Given the description of an element on the screen output the (x, y) to click on. 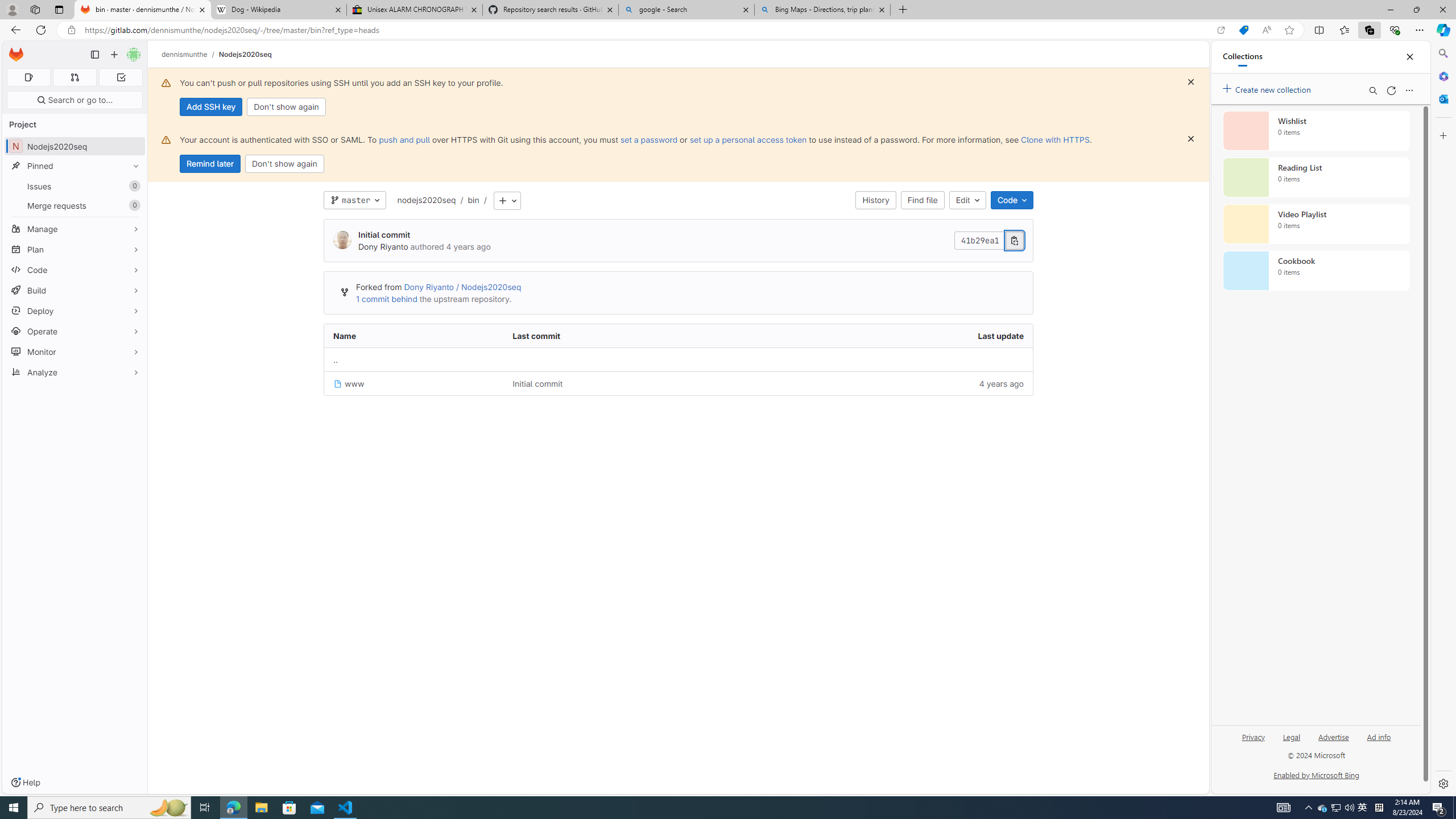
To-Do list 0 (120, 76)
Deploy (74, 310)
dennismunthe/ (189, 53)
Copy commit SHA (1014, 240)
Dony Riyanto's avatar (341, 240)
Legal (1292, 741)
Legal (1291, 736)
/bin (467, 200)
Last update (892, 336)
set up a personal access token (747, 139)
Primary navigation sidebar (94, 54)
